Given the description of an element on the screen output the (x, y) to click on. 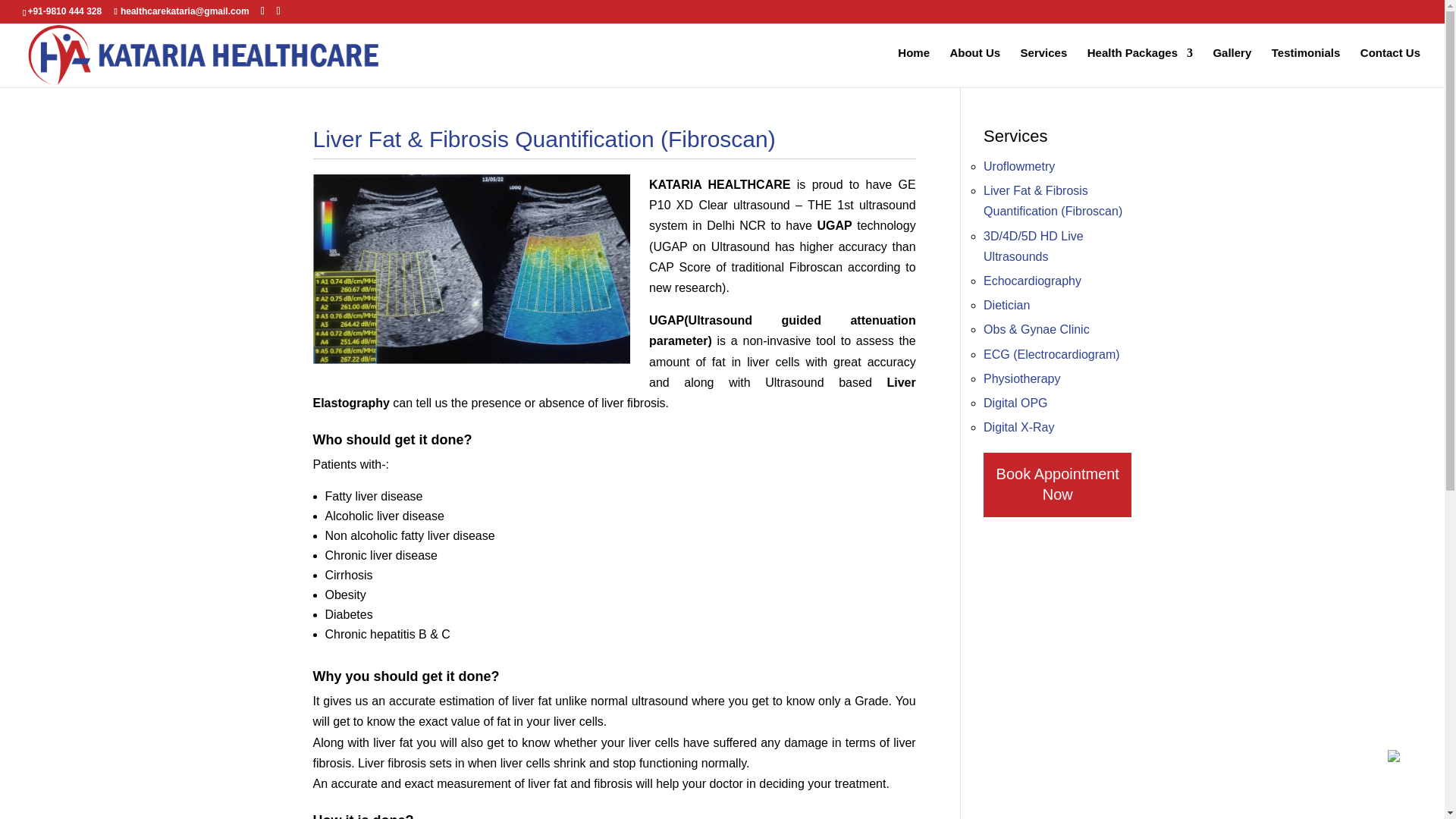
Book Appointment Now (1057, 484)
Health Packages (1139, 65)
Uroflowmetry (1019, 165)
Contact Us (1390, 65)
Testimonials (1305, 65)
Home (914, 65)
Digital X-Ray (1019, 427)
About Us (974, 65)
Echocardiography (1032, 280)
Services (1043, 65)
